Given the description of an element on the screen output the (x, y) to click on. 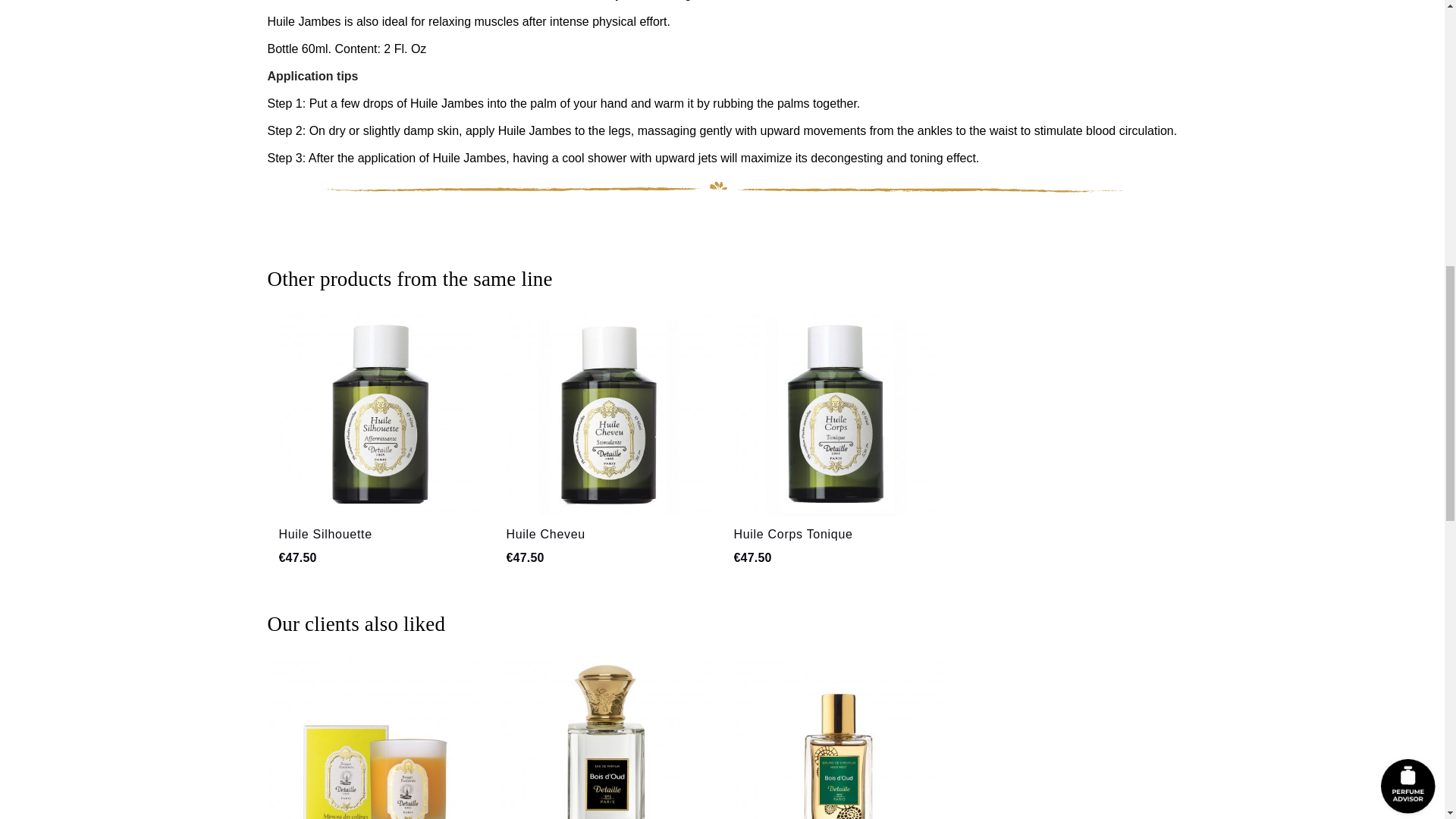
Huile Silhouette (325, 533)
Huile Corps Tonique (793, 533)
Huile Cheveu (545, 533)
